Given the description of an element on the screen output the (x, y) to click on. 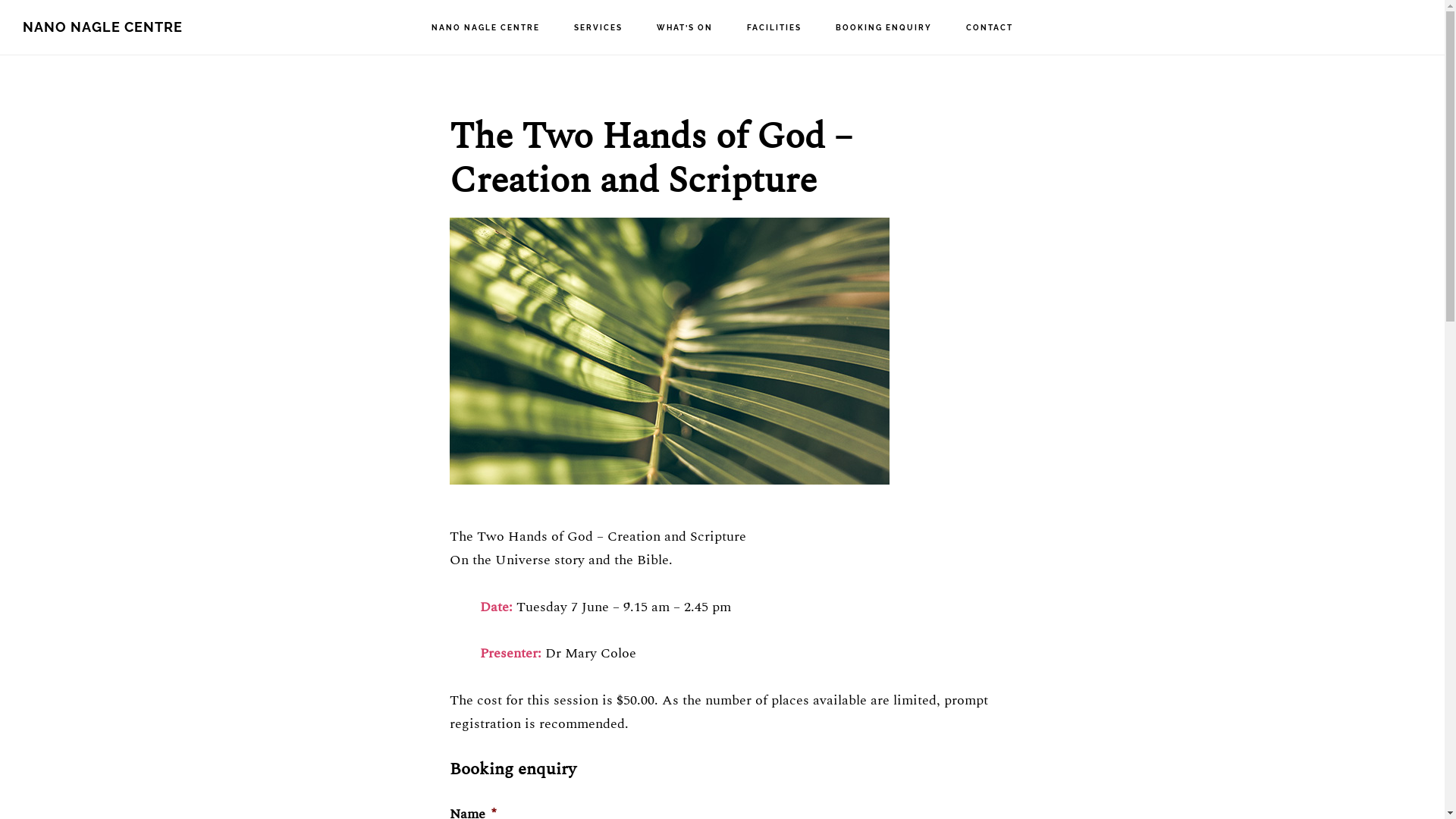
SERVICES Element type: text (597, 27)
Skip to main content Element type: text (0, 0)
NANO NAGLE CENTRE Element type: text (102, 26)
FACILITIES Element type: text (773, 27)
CONTACT Element type: text (989, 27)
Presenter: Element type: text (509, 653)
NANO NAGLE CENTRE Element type: text (485, 27)
BOOKING ENQUIRY Element type: text (883, 27)
Date: Element type: text (495, 606)
